Given the description of an element on the screen output the (x, y) to click on. 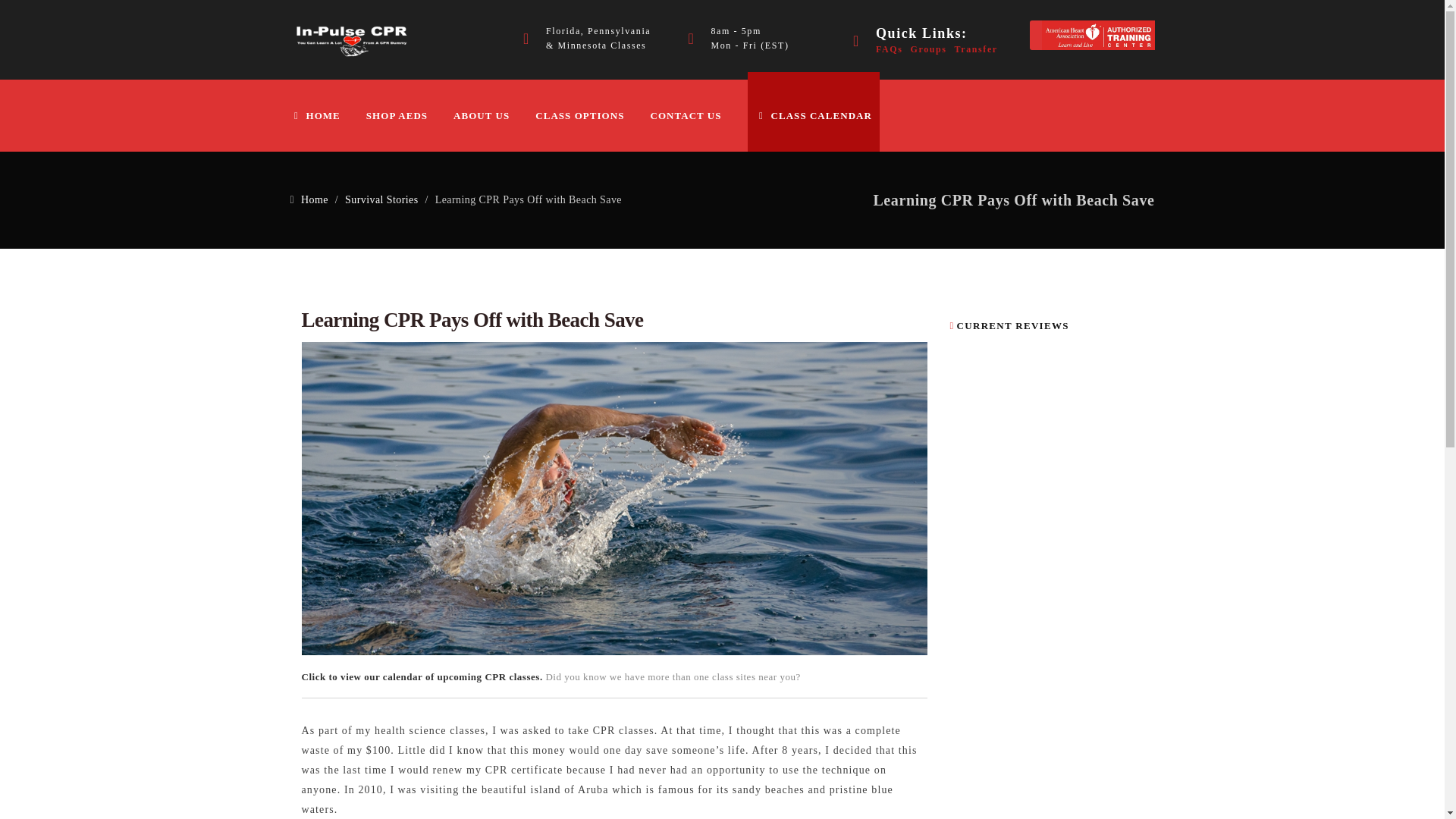
Did you know we have more than one class sites near you? (671, 675)
CONTACT US (696, 115)
SHOP AEDS (407, 115)
Click to view our calendar of upcoming CPR classes. (423, 675)
Transfer (976, 49)
Contact In-Pulse CPR (696, 115)
HOME (325, 115)
CLASS OPTIONS (590, 115)
FAQs (889, 49)
Home (314, 199)
